Given the description of an element on the screen output the (x, y) to click on. 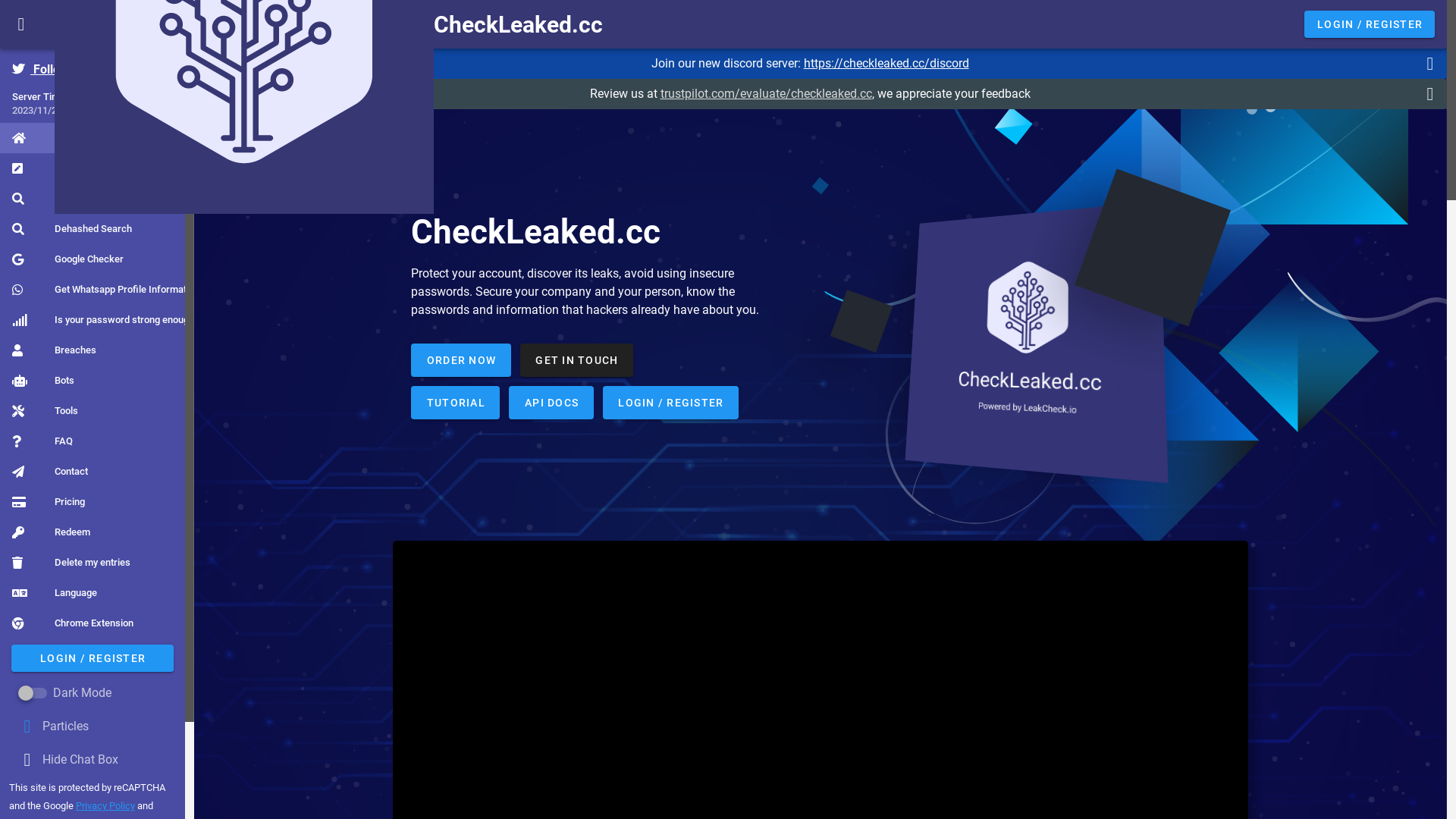
Get Whatsapp Profile Information Element type: text (105, 289)
Pricing Element type: text (48, 501)
FAQ Element type: text (42, 441)
Bots Element type: text (43, 380)
https://checkleaked.cc/discord Element type: text (886, 63)
LOGIN / REGISTER Element type: text (1369, 23)
Home Element type: text (46, 137)
trustpilot.com/evaluate/checkleaked.cc Element type: text (765, 93)
Updates Element type: text (51, 168)
LOGIN / REGISTER Element type: text (670, 401)
LOGIN / REGISTER Element type: text (92, 657)
Privacy Policy Element type: text (104, 805)
API DOCS Element type: text (550, 401)
Google Checker Element type: text (67, 259)
Delete my entries Element type: text (71, 562)
Check your Account Element type: text (76, 198)
Tools Element type: text (45, 410)
Language Element type: text (54, 592)
Follow us Element type: text (48, 69)
Breaches Element type: text (54, 350)
Is your password strong enough? Element type: text (105, 319)
ORDER NOW Element type: text (461, 359)
Redeem Element type: text (51, 532)
Chrome Extension Element type: text (72, 623)
Dehashed Search Element type: text (72, 228)
GET IN TOUCH Element type: text (576, 359)
TUTORIAL Element type: text (455, 401)
Contact Element type: text (50, 471)
